Given the description of an element on the screen output the (x, y) to click on. 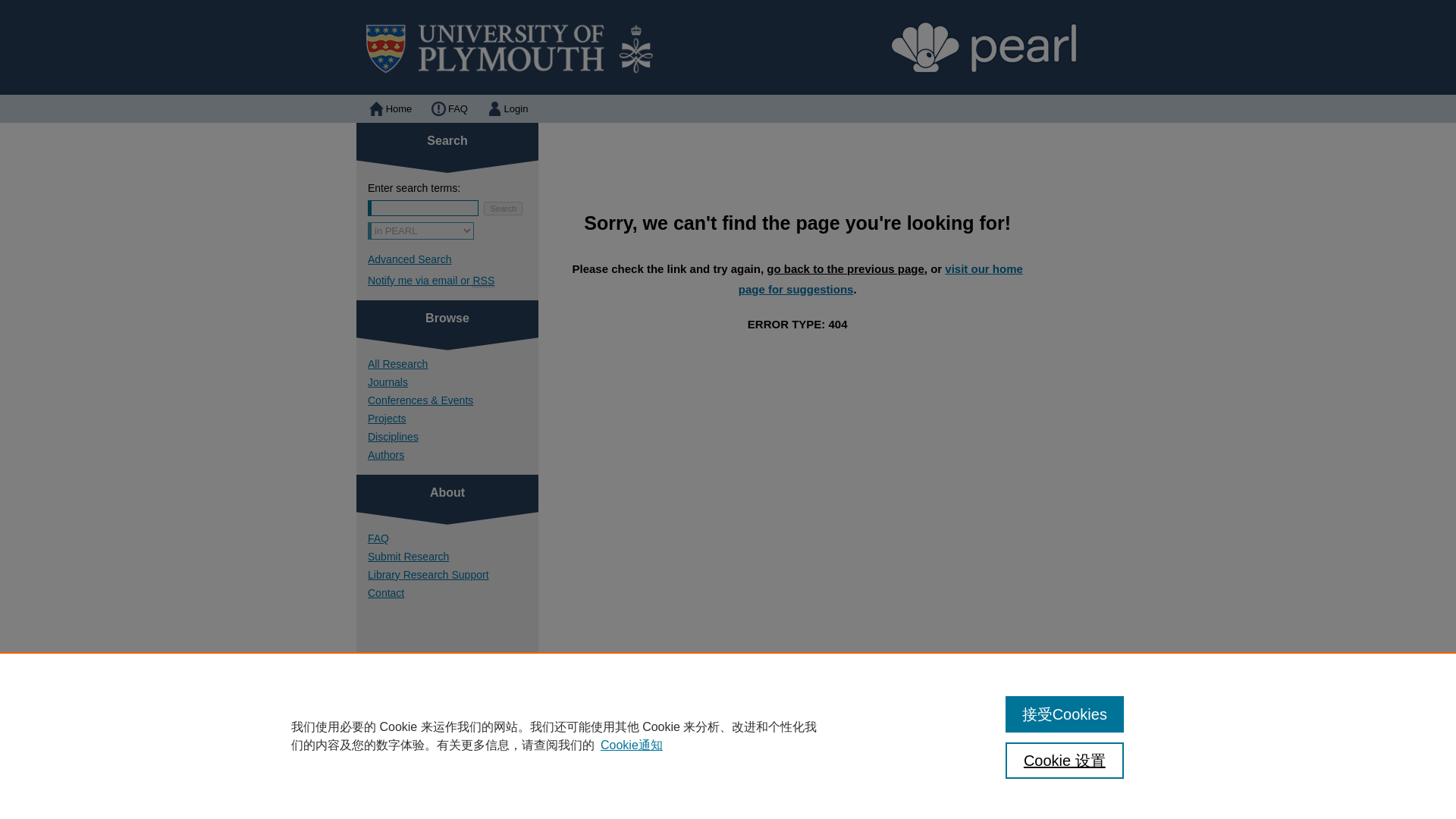
All Research (453, 363)
Browse Journals (453, 381)
visit our home page for suggestions (880, 278)
Projects (453, 418)
FAQ (448, 108)
Email or RSS Notifications (453, 280)
Browse by All Research (453, 363)
Search (502, 208)
Login (507, 108)
Home (389, 108)
FAQ (453, 538)
Copyright (622, 799)
PEARL (727, 47)
Advanced Search (409, 259)
Accessibility Statement (771, 779)
